Given the description of an element on the screen output the (x, y) to click on. 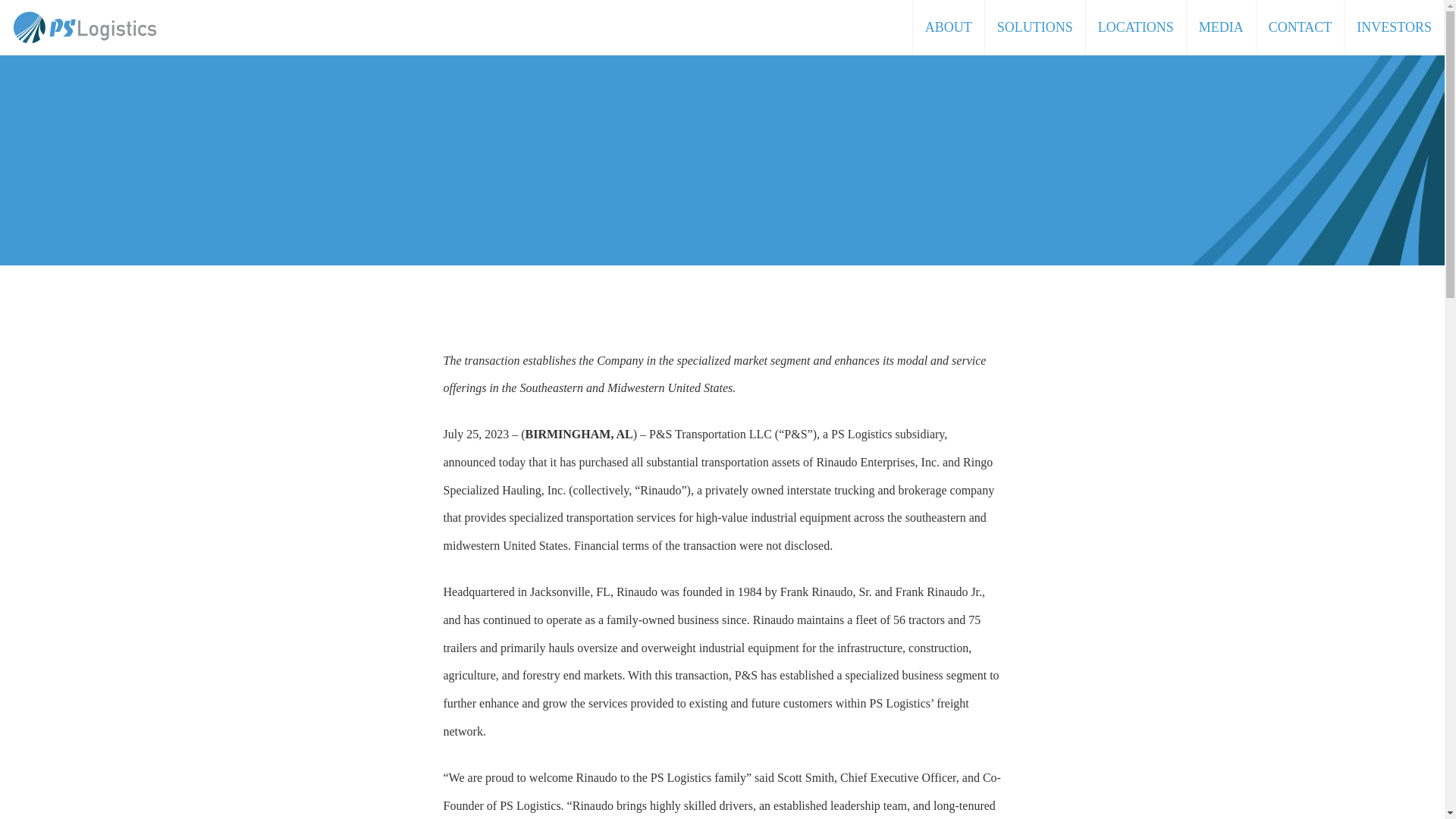
LOCATIONS (1136, 15)
SOLUTIONS (1035, 3)
MEDIA (1221, 15)
ABOUT (948, 0)
CONTACT (1300, 17)
Logistics (84, 27)
